Given the description of an element on the screen output the (x, y) to click on. 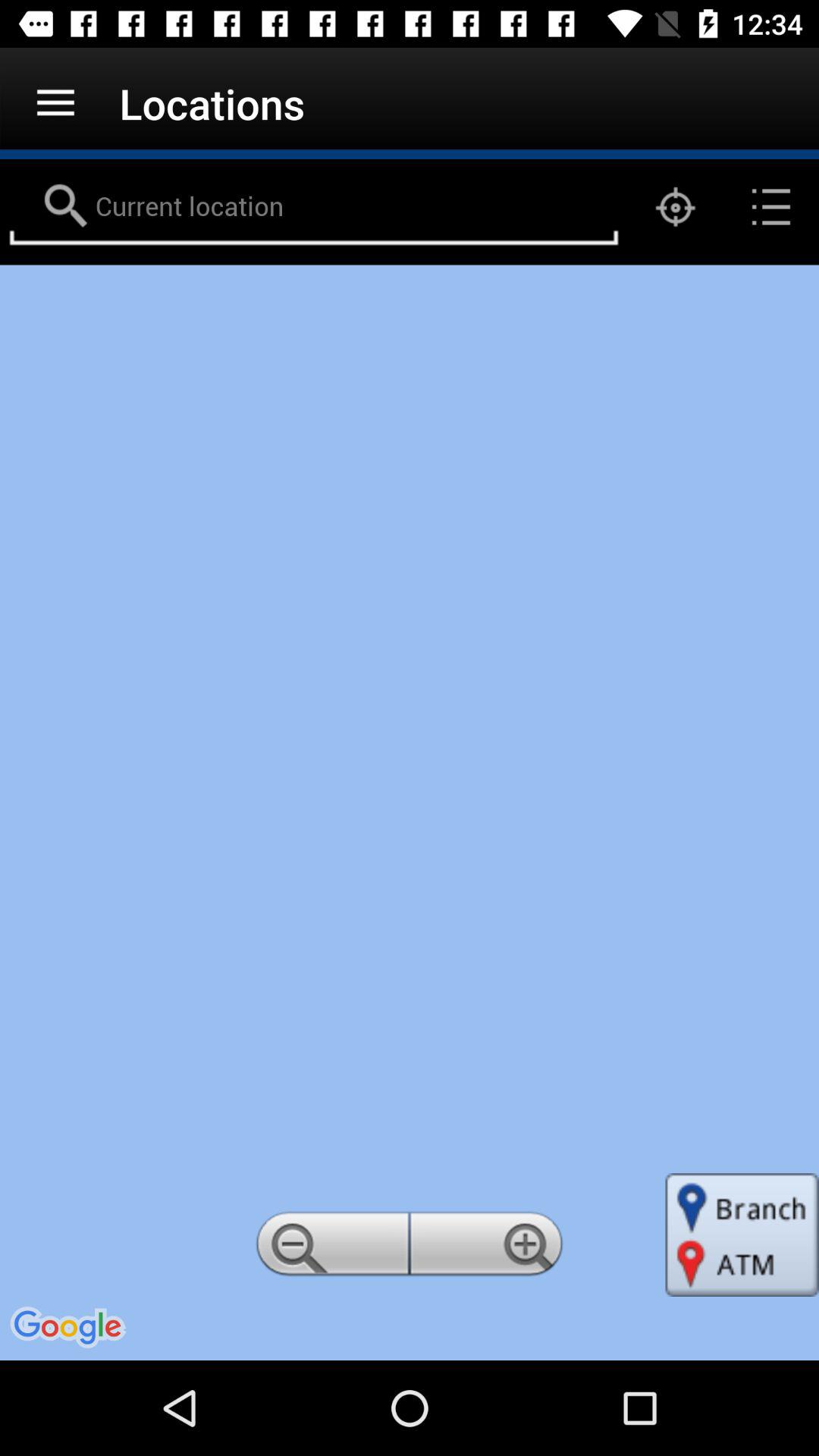
go to maximize (488, 1248)
